Given the description of an element on the screen output the (x, y) to click on. 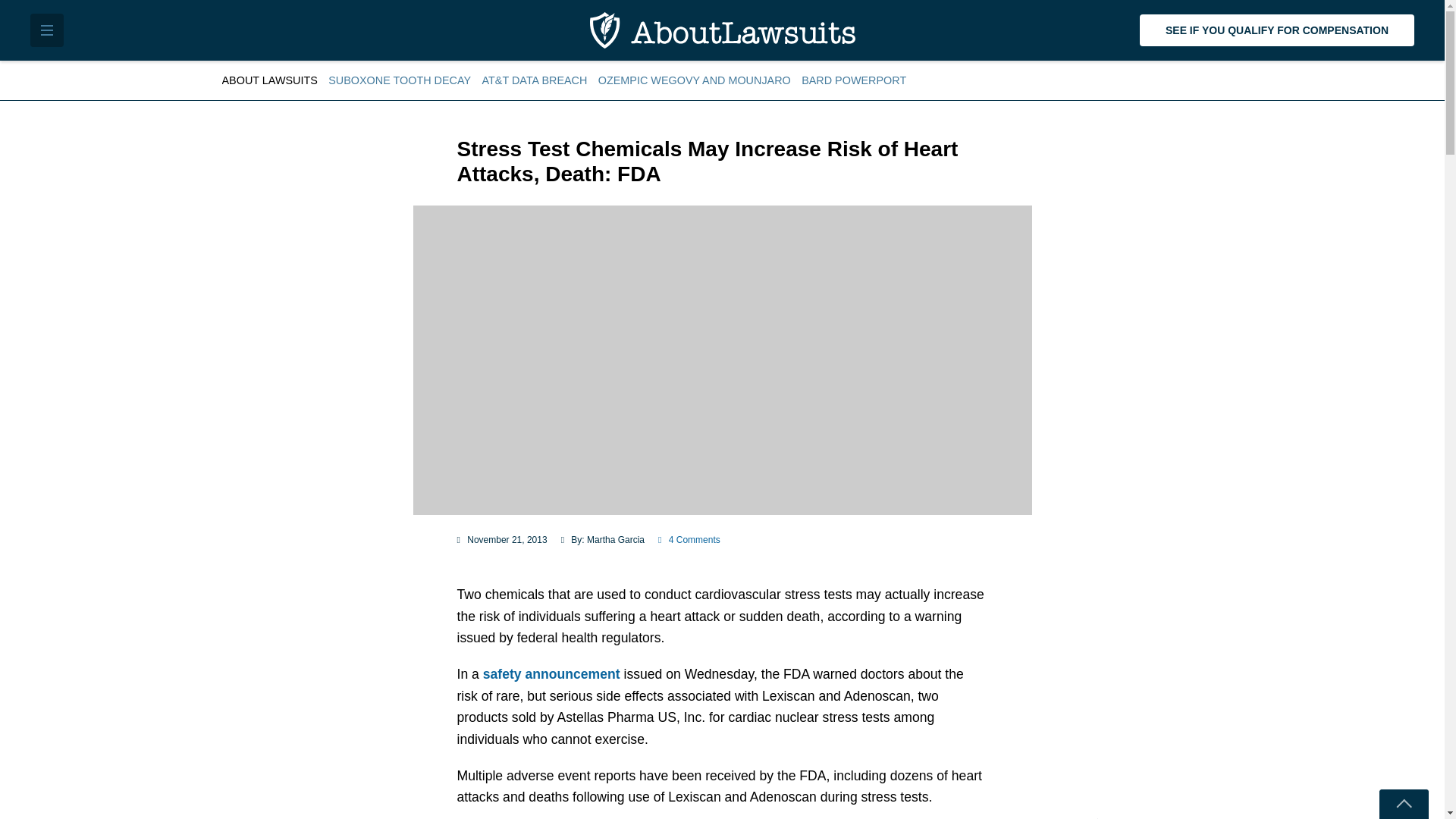
SEE IF YOU QUALIFY FOR COMPENSATION (1276, 30)
Toggle newsletter signup form. (1403, 804)
safety announcement (551, 673)
BARD POWERPORT (853, 80)
Toggle Menu (47, 29)
4 Comments (689, 539)
SUBOXONE TOOTH DECAY (399, 80)
OZEMPIC WEGOVY AND MOUNJARO (694, 80)
ABOUT LAWSUITS (272, 80)
